Given the description of an element on the screen output the (x, y) to click on. 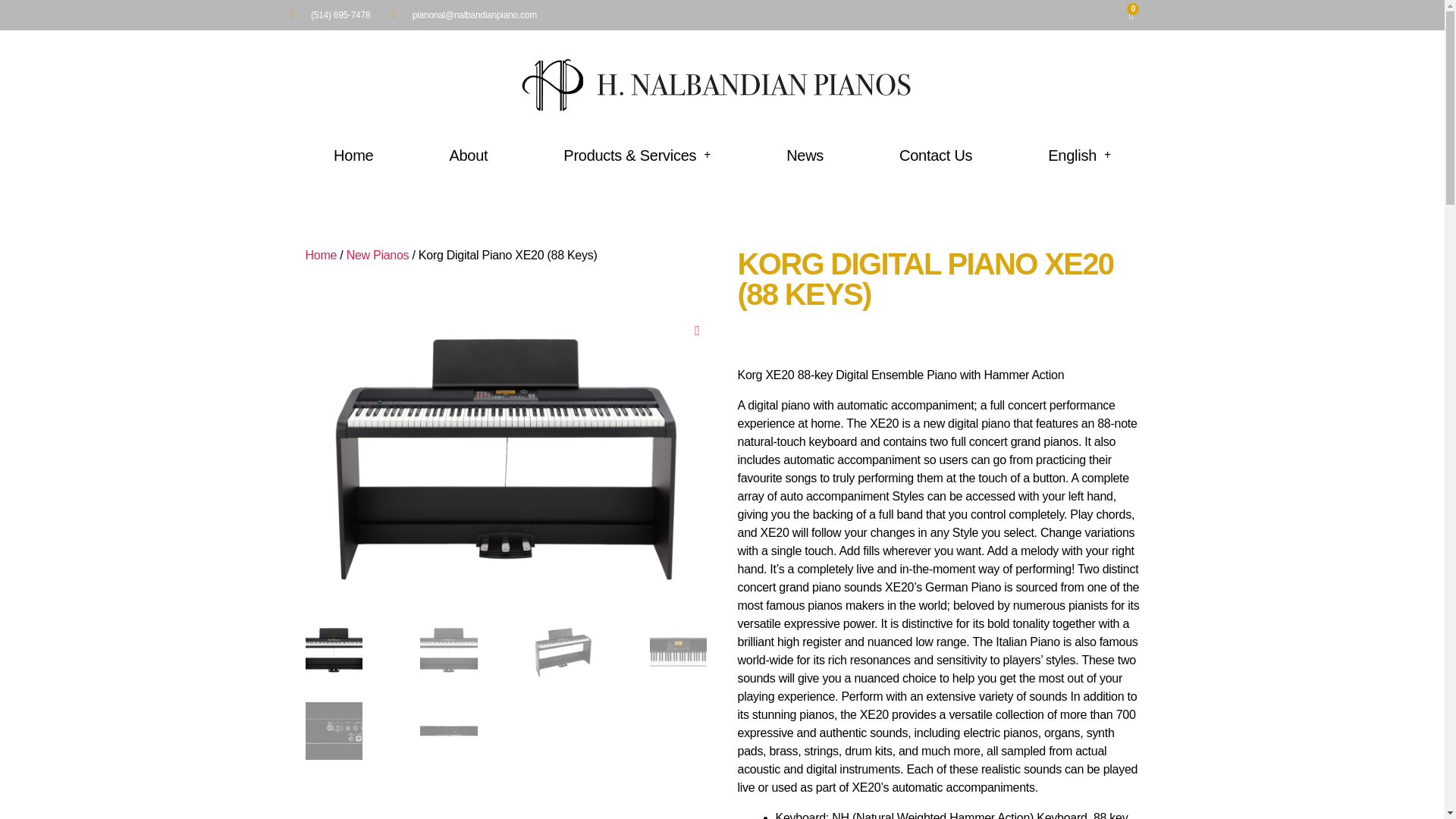
About (467, 145)
Contact Us (935, 149)
News (804, 149)
Home (353, 144)
English (1078, 150)
